Given the description of an element on the screen output the (x, y) to click on. 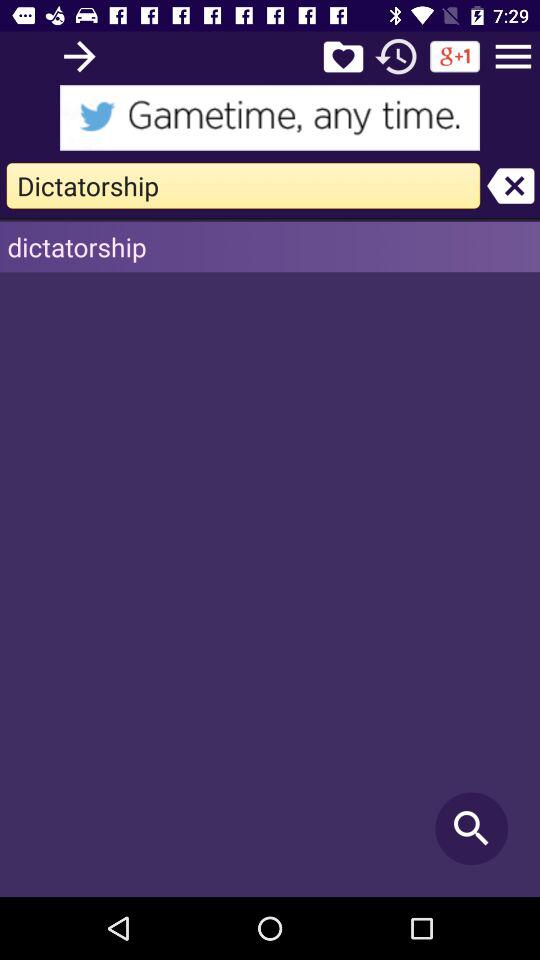
see menu items (513, 56)
